Given the description of an element on the screen output the (x, y) to click on. 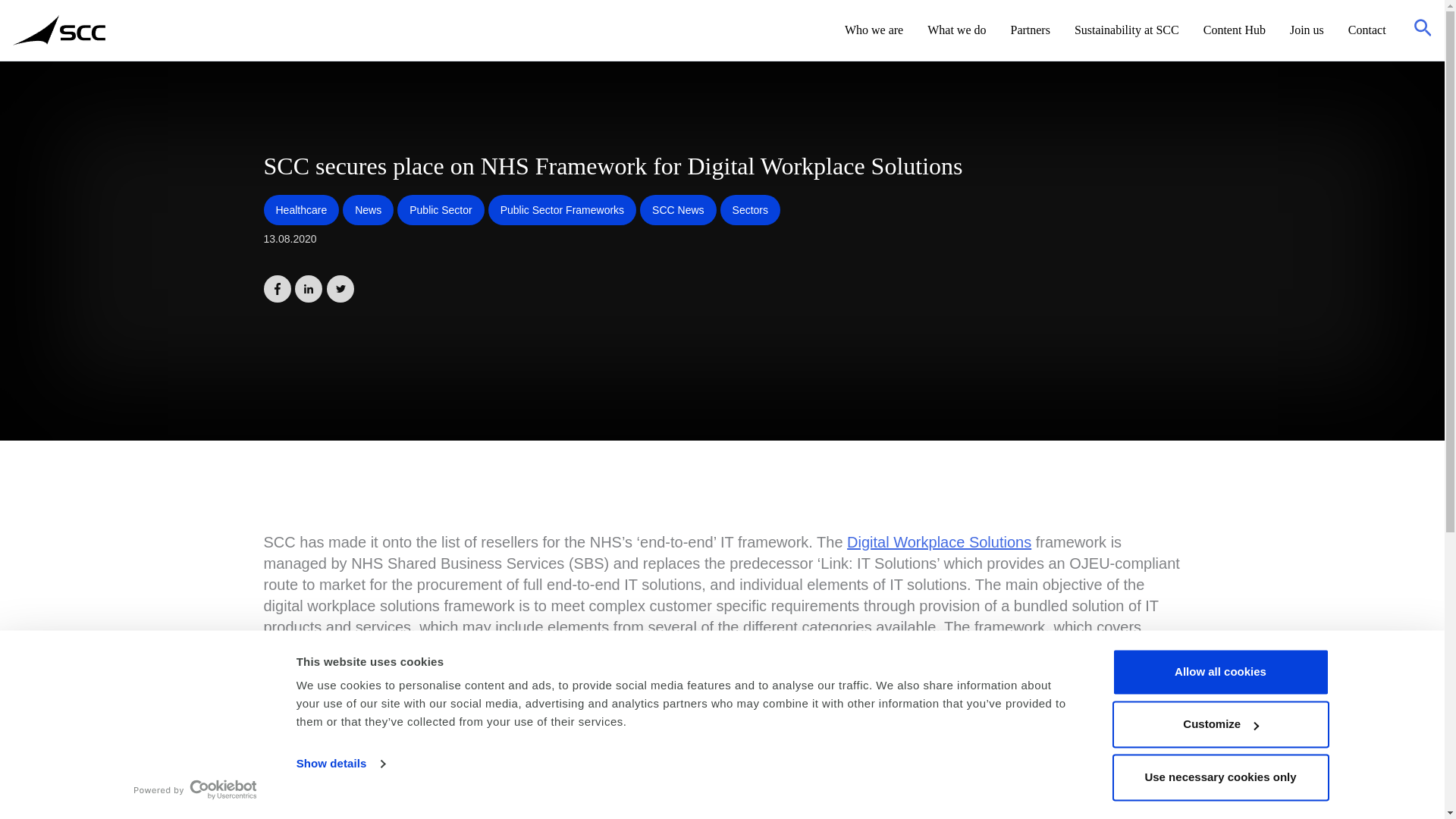
Show details (340, 763)
